Given the description of an element on the screen output the (x, y) to click on. 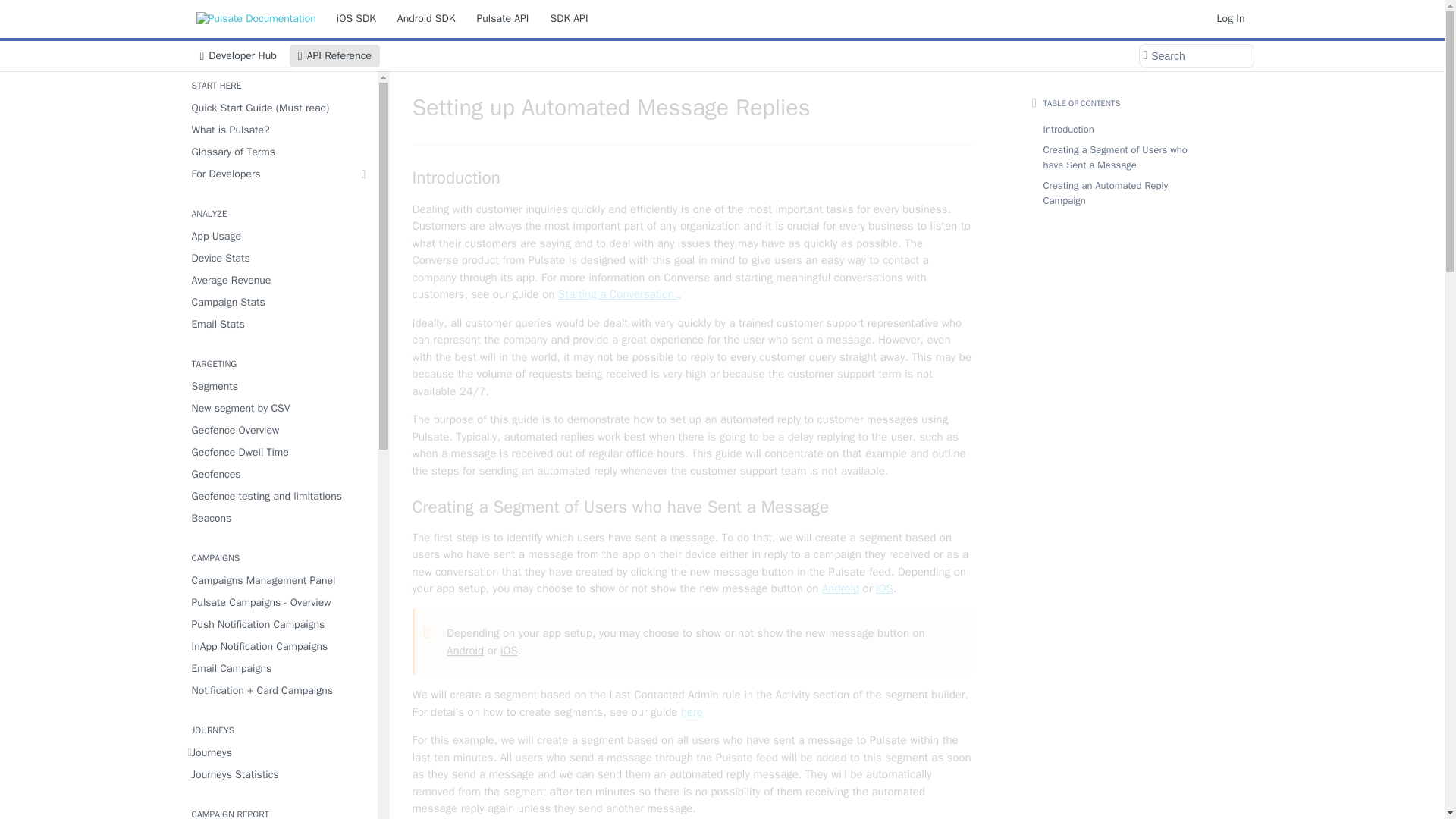
Glossary of Terms (277, 151)
Campaigns Management Panel (277, 580)
Creating a Segment of Users who have Sent a Message (692, 506)
Average Revenue (277, 280)
Log In (1230, 18)
SDK API (568, 18)
What is Pulsate? (277, 129)
Introduction (692, 178)
iOS SDK (356, 18)
Push Notification Campaigns (277, 624)
